Given the description of an element on the screen output the (x, y) to click on. 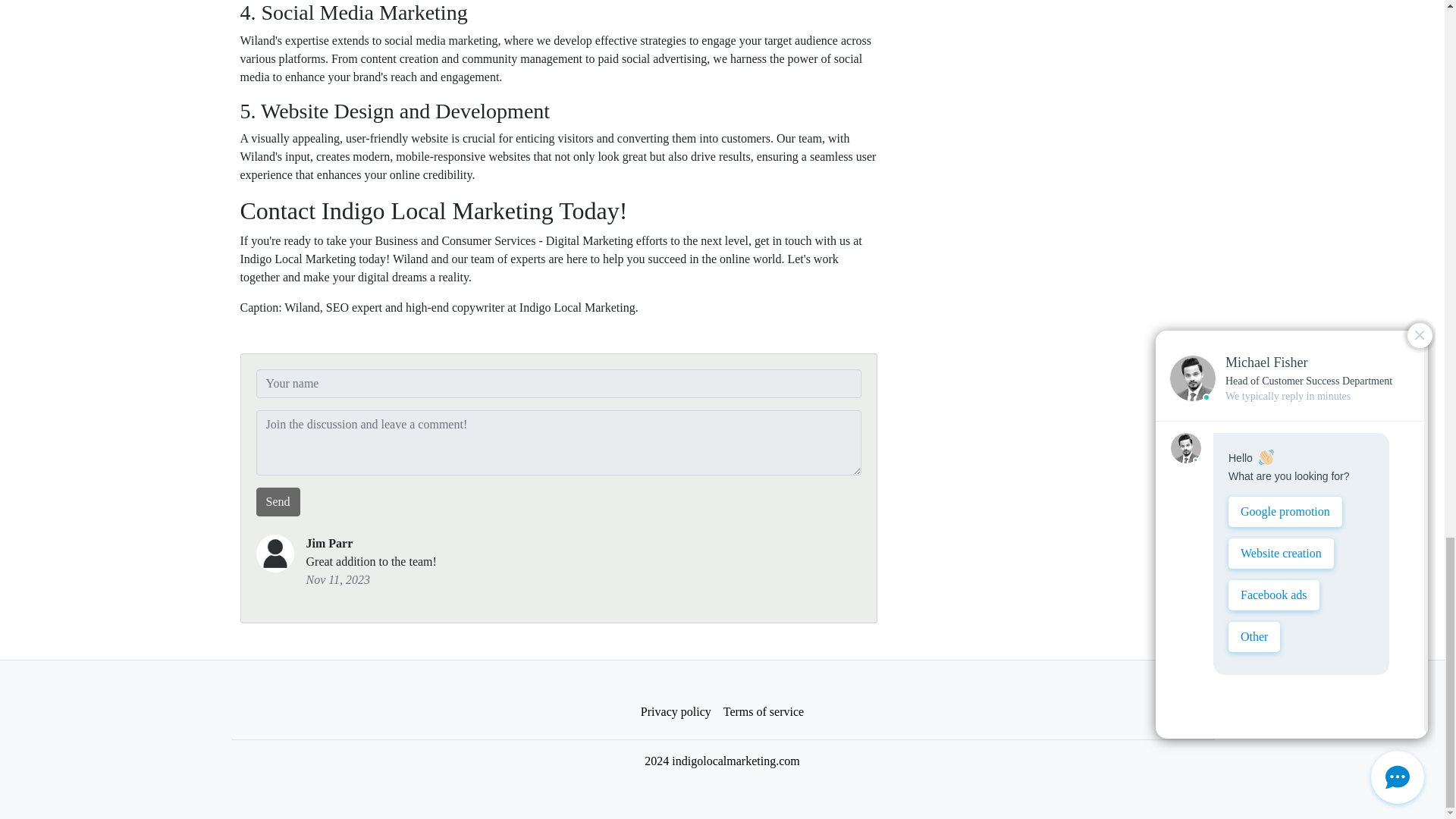
Send (277, 501)
Send (277, 501)
Terms of service (763, 711)
Privacy policy (675, 711)
